Given the description of an element on the screen output the (x, y) to click on. 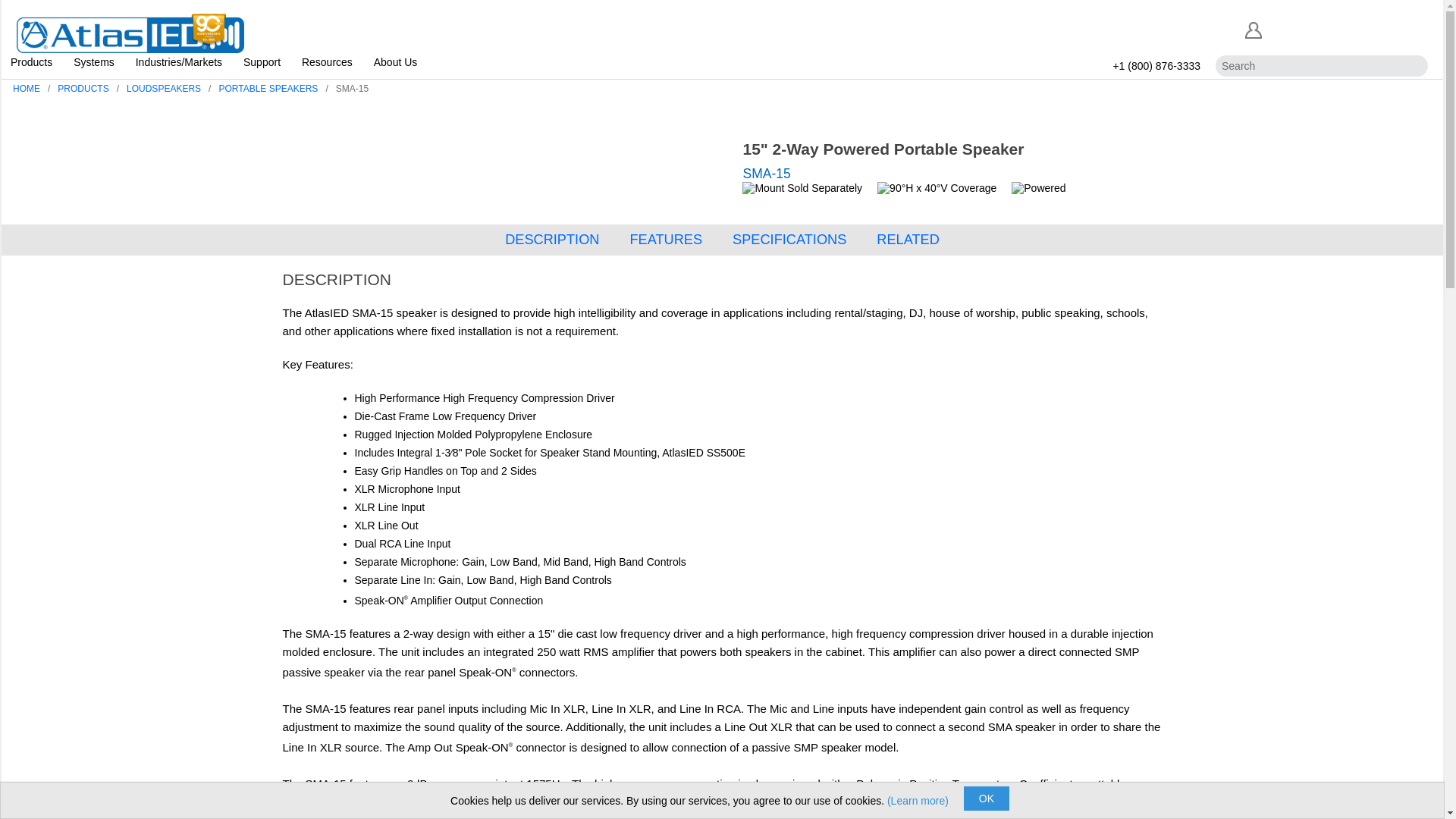
Search (1414, 65)
FEATURES (664, 239)
Facebook (1281, 28)
AtlasIED (130, 30)
RELATED (907, 239)
Search (1414, 65)
Log In (1253, 30)
YouTube (1417, 28)
LinkedIn (1308, 28)
DESCRIPTION (551, 239)
